Given the description of an element on the screen output the (x, y) to click on. 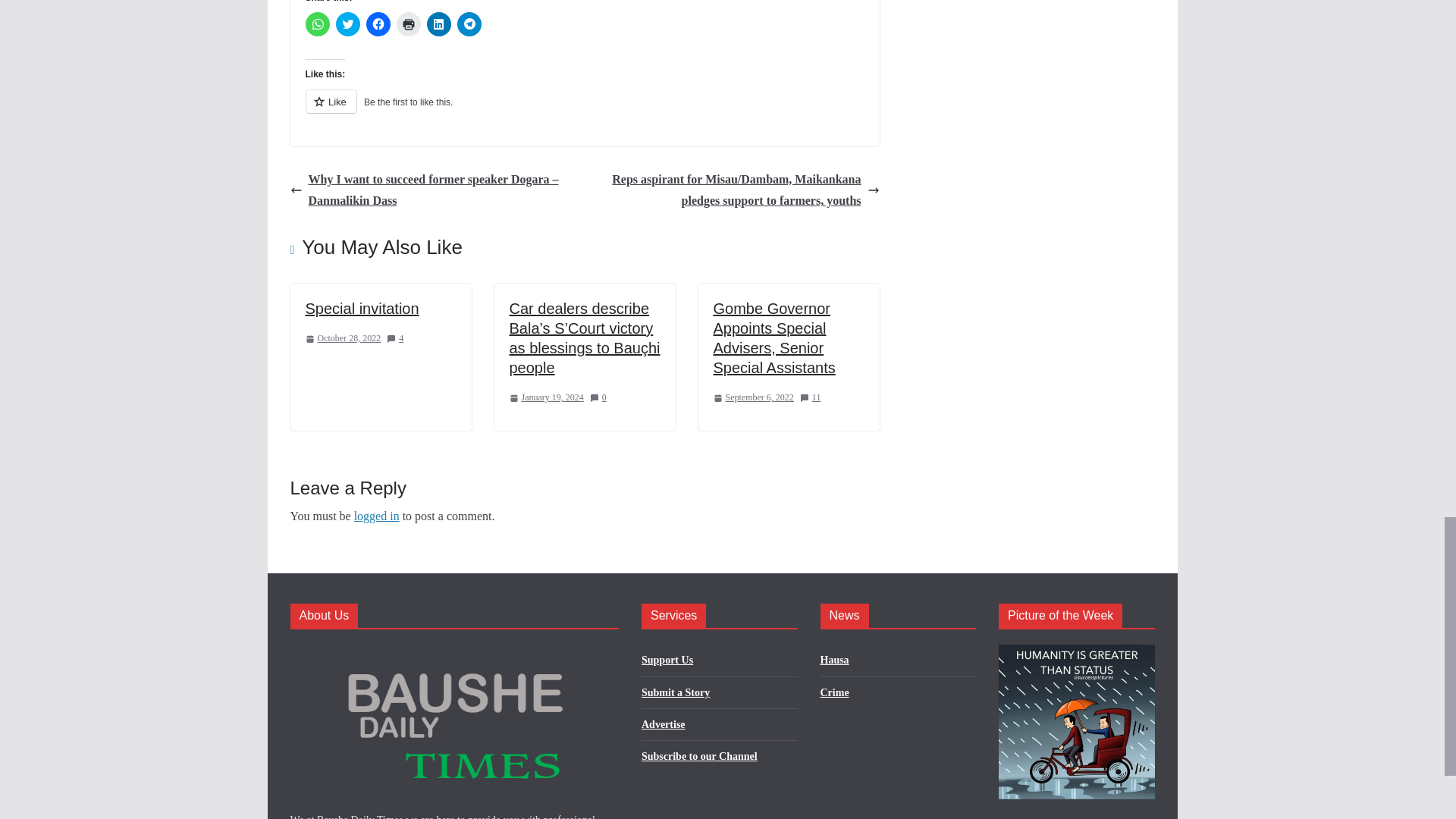
Click to share on Facebook (377, 24)
Click to share on Twitter (346, 24)
Click to print (408, 24)
October 28, 2022 (342, 338)
Special invitation (361, 308)
Click to share on WhatsApp (316, 24)
